Given the description of an element on the screen output the (x, y) to click on. 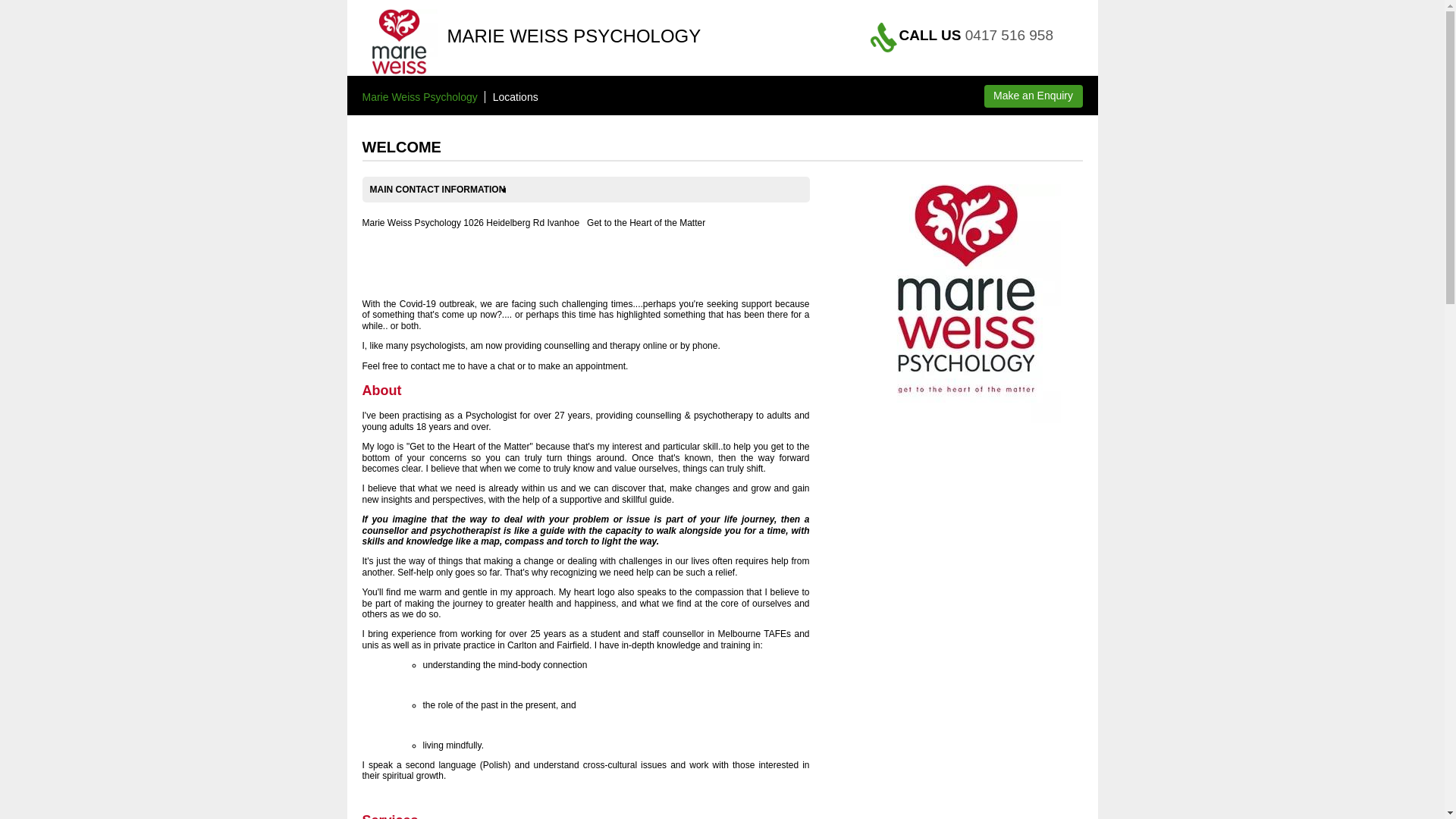
Make an Enquiry Element type: text (1033, 95)
MARIE WEISS PSYCHOLOGY Element type: text (574, 35)
Marie Weiss Psychology Element type: text (419, 97)
MAIN CONTACT INFORMATION Element type: text (445, 189)
Locations Element type: text (515, 97)
